Given the description of an element on the screen output the (x, y) to click on. 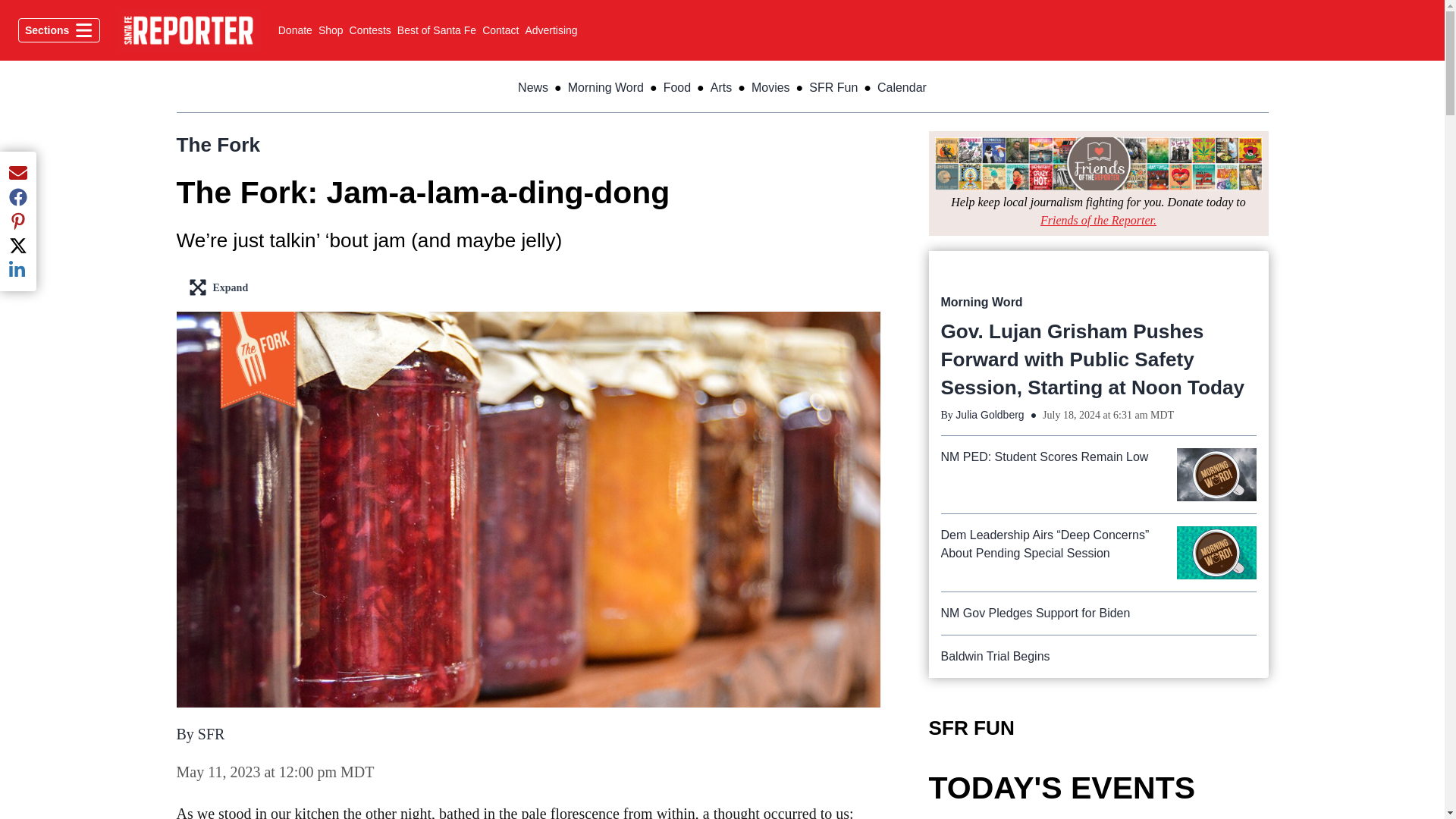
Donate (295, 30)
Advertising (550, 30)
Best of Santa Fe (436, 30)
Become a Friend of the Reporter (330, 30)
Become a Friend of the Reporter (1098, 219)
Santa Fe Reporter (1098, 164)
Sections (188, 30)
Contests (58, 30)
Contact (370, 30)
